Given the description of an element on the screen output the (x, y) to click on. 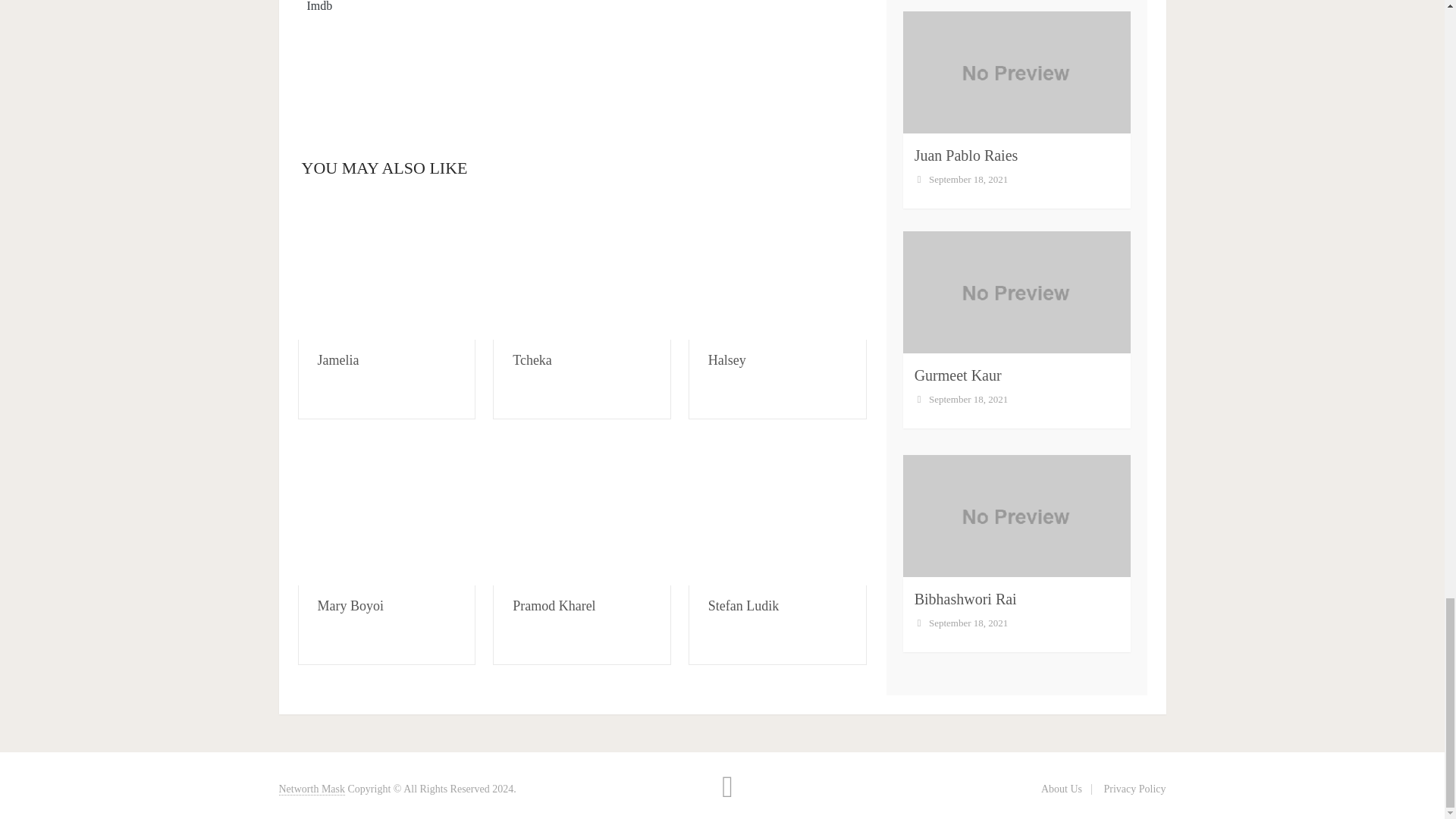
Pramod Kharel (582, 514)
Jamelia (337, 359)
Stefan Ludik (742, 605)
Tcheka (582, 267)
Jamelia (386, 267)
Pramod Kharel (553, 605)
Halsey (726, 359)
Corona Tracker (581, 70)
Stefan Ludik (777, 514)
Mary Boyoi (350, 605)
Halsey (777, 267)
Tcheka (531, 359)
Mary Boyoi (386, 514)
